Given the description of an element on the screen output the (x, y) to click on. 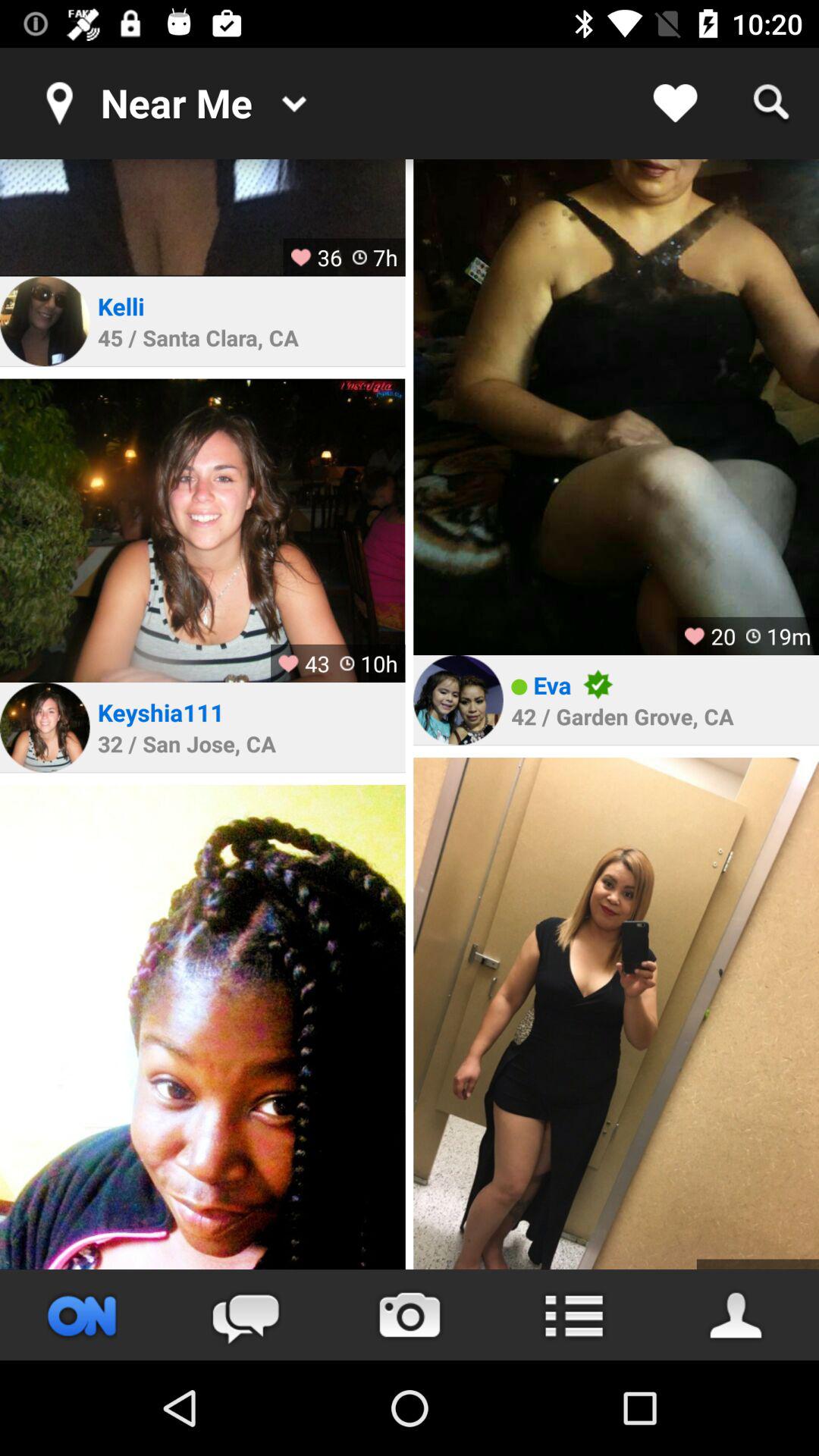
featured picture (202, 1026)
